Given the description of an element on the screen output the (x, y) to click on. 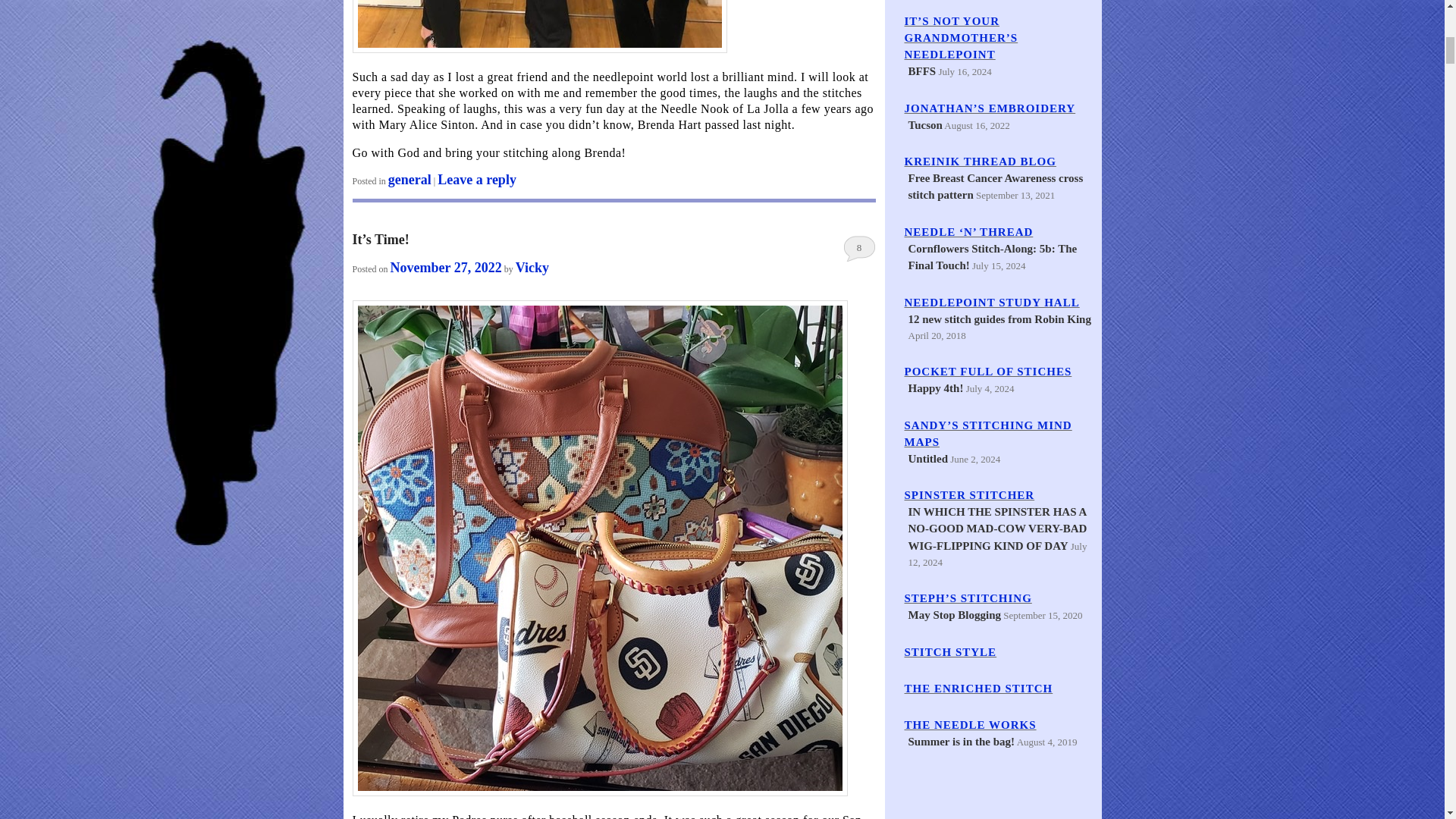
8:13 am (446, 267)
November 27, 2022 (446, 267)
View all posts by Vicky (531, 267)
8 (859, 247)
Vicky (531, 267)
Leave a reply (477, 179)
general (409, 179)
